Given the description of an element on the screen output the (x, y) to click on. 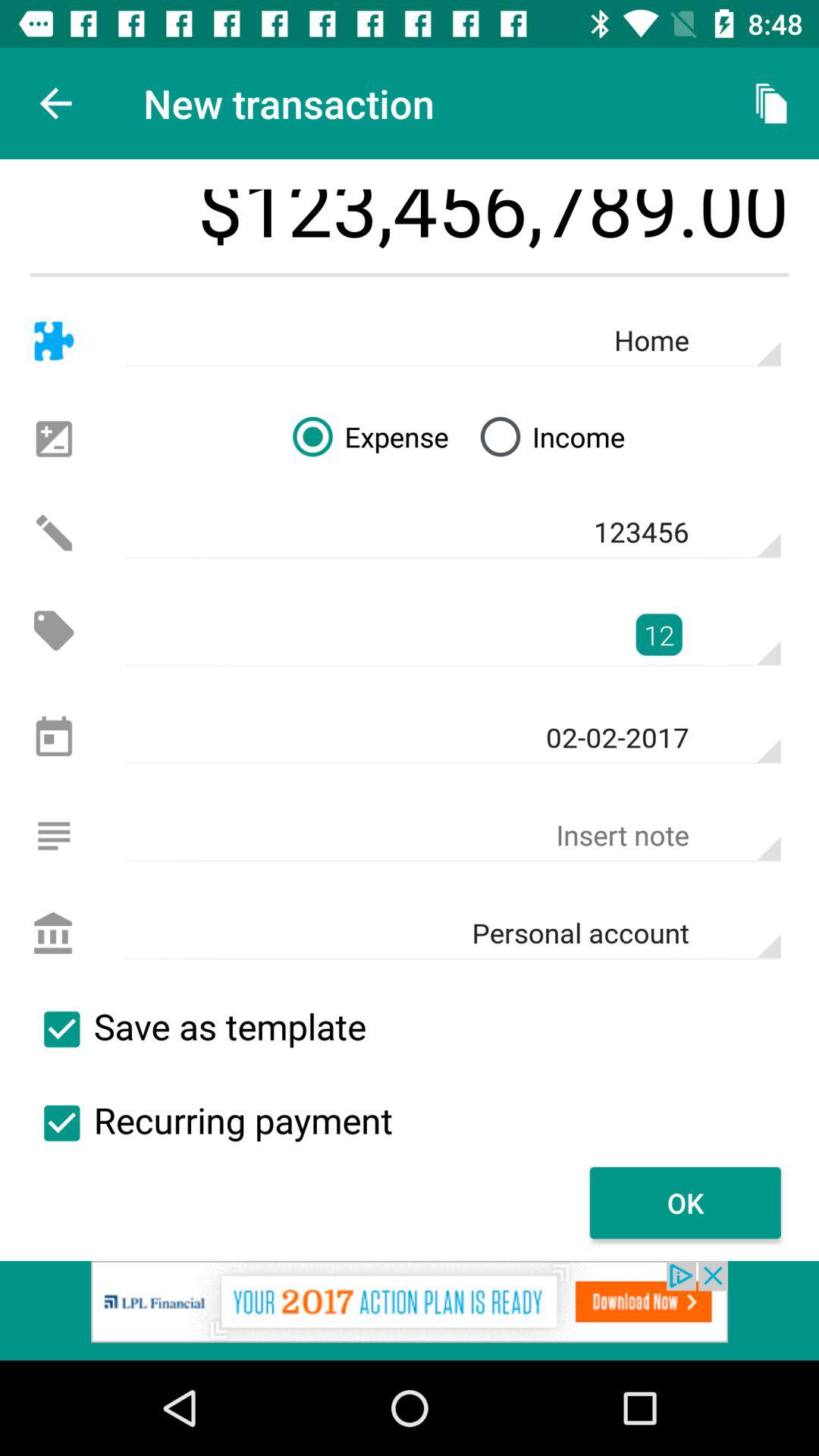
check calendar (53, 738)
